Given the description of an element on the screen output the (x, y) to click on. 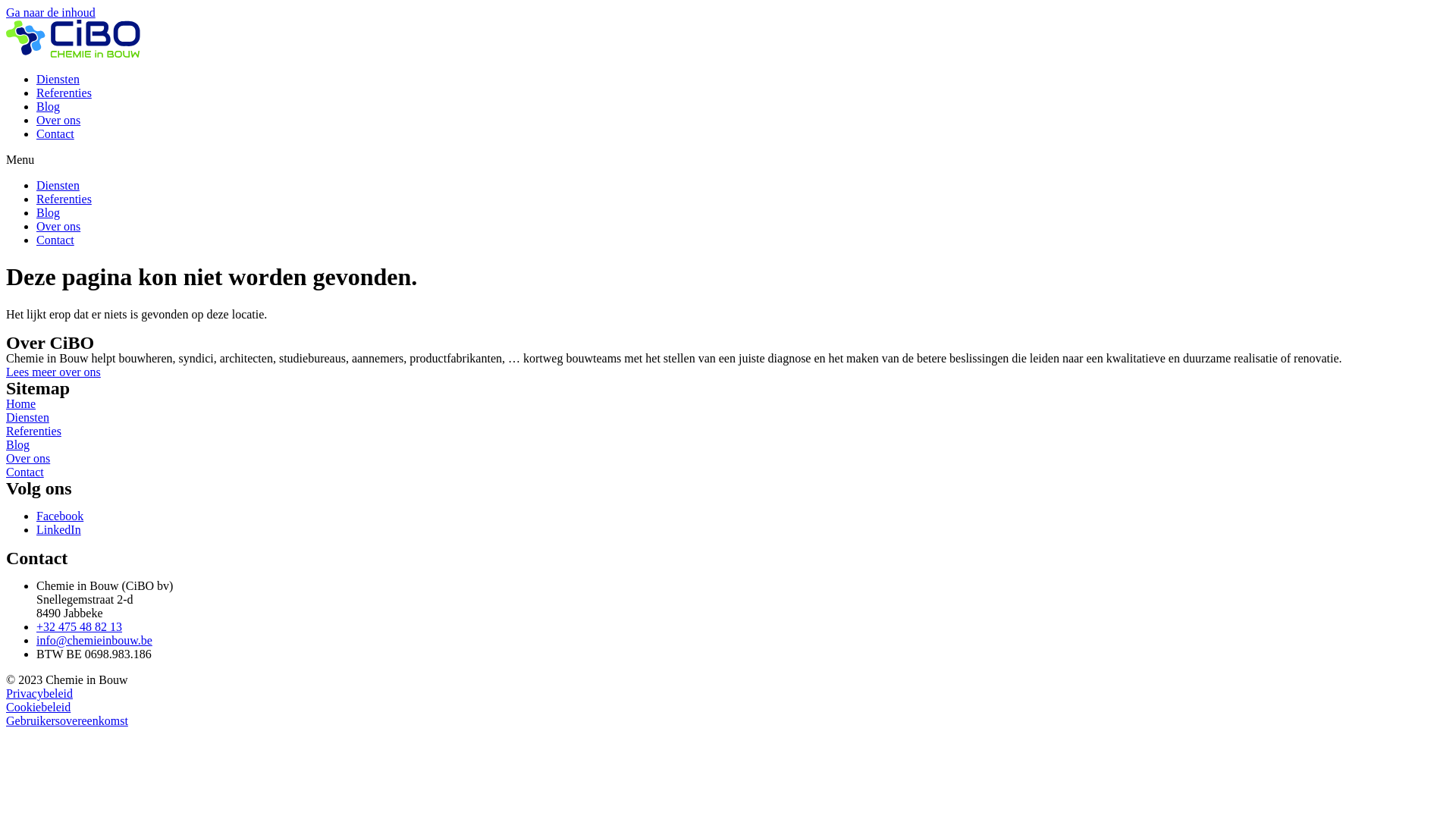
Cookiebeleid Element type: text (38, 706)
Diensten Element type: text (57, 184)
Over ons Element type: text (28, 457)
Blog Element type: text (47, 106)
Blog Element type: text (17, 444)
Diensten Element type: text (27, 417)
Referenties Element type: text (63, 92)
+32 475 48 82 13 Element type: text (79, 626)
Ga naar de inhoud Element type: text (50, 12)
Contact Element type: text (55, 133)
Referenties Element type: text (63, 198)
Gebruikersovereenkomst Element type: text (67, 720)
Over ons Element type: text (58, 225)
Home Element type: text (20, 403)
Facebook Element type: text (59, 515)
Blog Element type: text (47, 212)
LinkedIn Element type: text (58, 529)
info@chemieinbouw.be Element type: text (94, 639)
Lees meer over ons Element type: text (53, 371)
Contact Element type: text (55, 239)
Over ons Element type: text (58, 119)
Diensten Element type: text (57, 78)
Referenties Element type: text (33, 430)
Contact Element type: text (24, 471)
Privacybeleid Element type: text (39, 693)
